Given the description of an element on the screen output the (x, y) to click on. 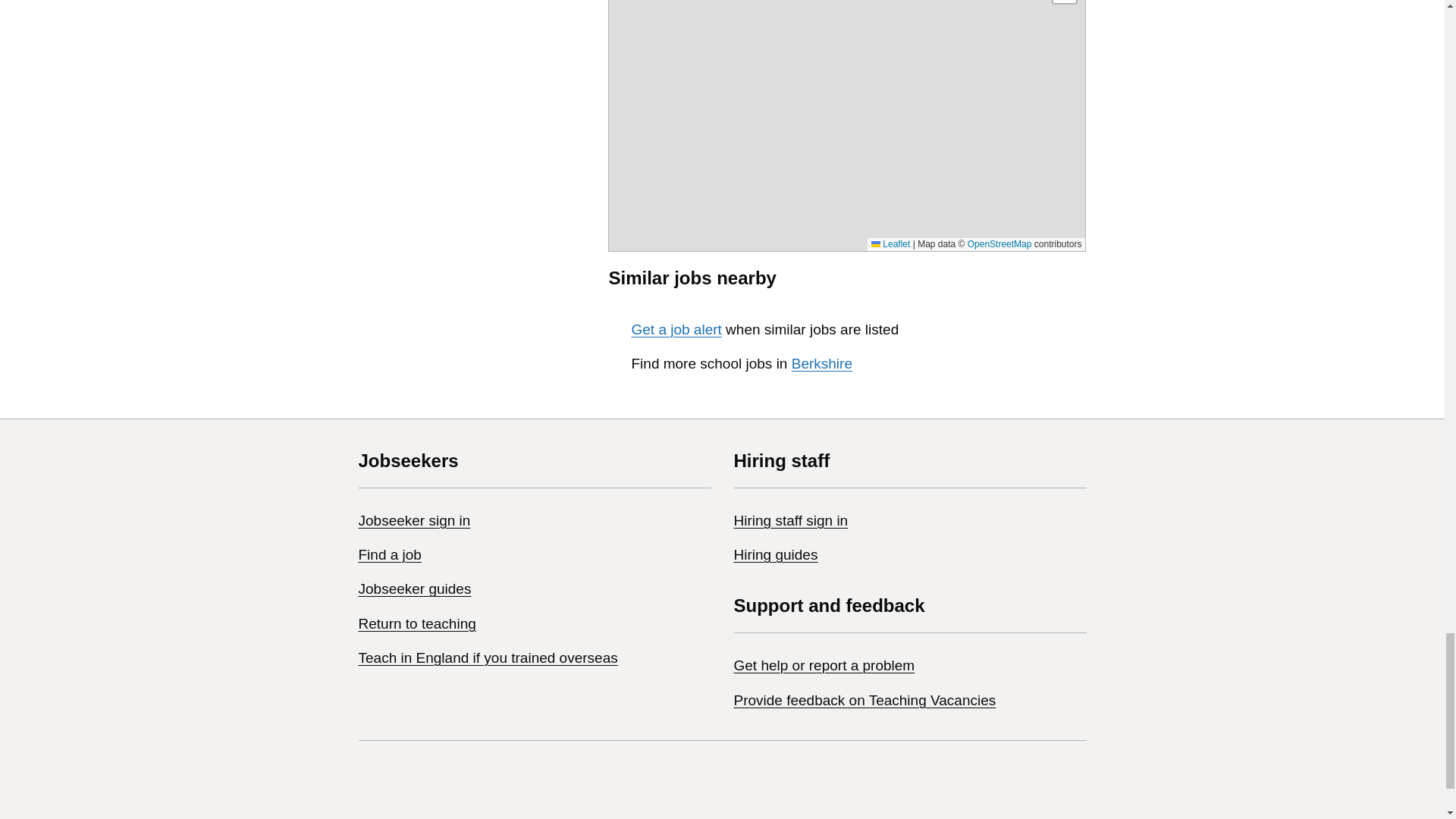
Teach in England if you trained overseas (487, 657)
Hiring staff sign in (790, 520)
Jobseeker sign in (414, 520)
A JavaScript library for interactive maps (890, 244)
Find a job (389, 554)
Get help or report a problem (824, 665)
Get a job alert (675, 329)
Provide feedback on Teaching Vacancies (864, 700)
Return to teaching (417, 623)
Leaflet (890, 244)
